Given the description of an element on the screen output the (x, y) to click on. 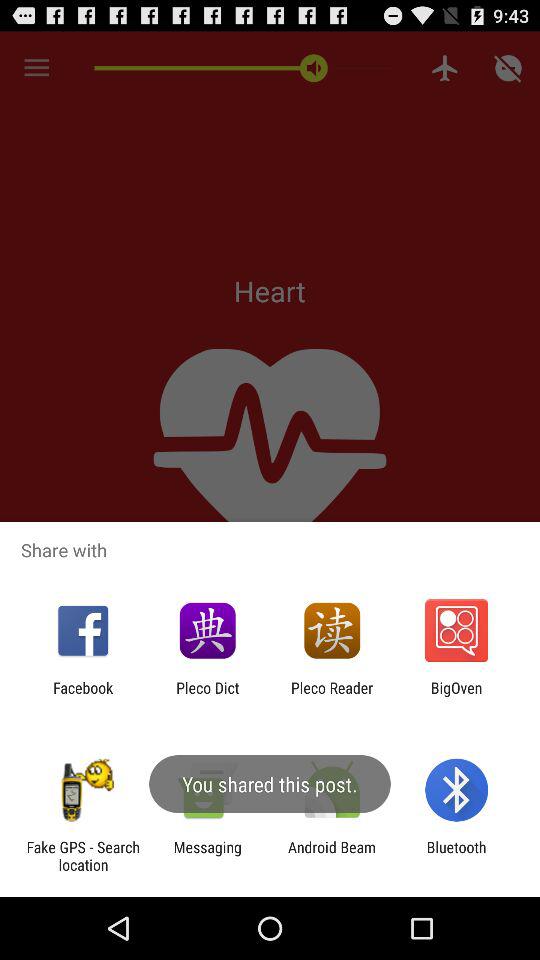
click the item next to pleco reader (207, 696)
